Given the description of an element on the screen output the (x, y) to click on. 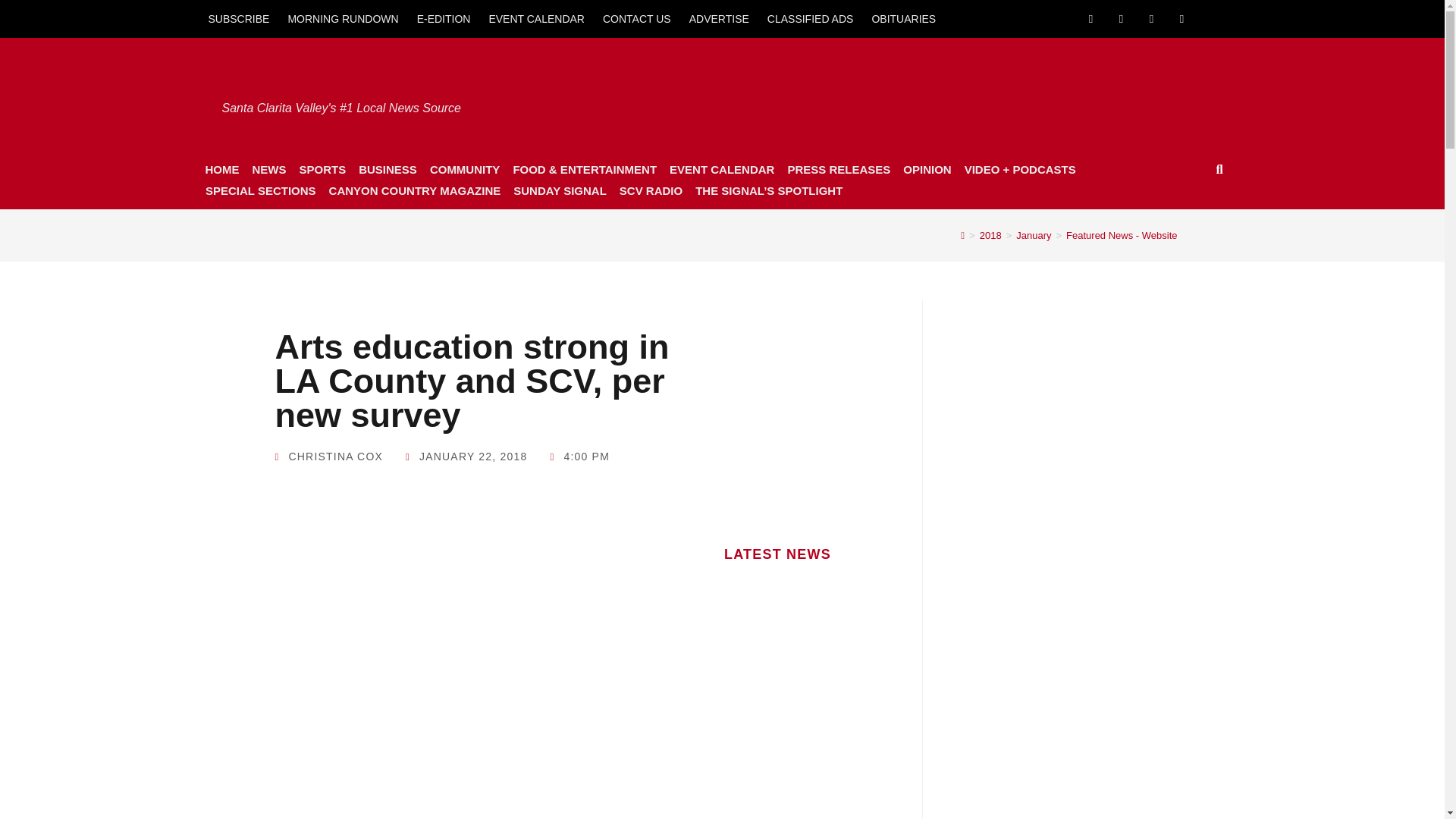
OBITUARIES (902, 18)
SUBSCRIBE (238, 18)
HOME (221, 169)
CLASSIFIED ADS (810, 18)
SPORTS (322, 169)
NEWS (269, 169)
EVENT CALENDAR (536, 18)
CONTACT US (636, 18)
MORNING RUNDOWN (342, 18)
E-EDITION (443, 18)
ADVERTISE (718, 18)
